Given the description of an element on the screen output the (x, y) to click on. 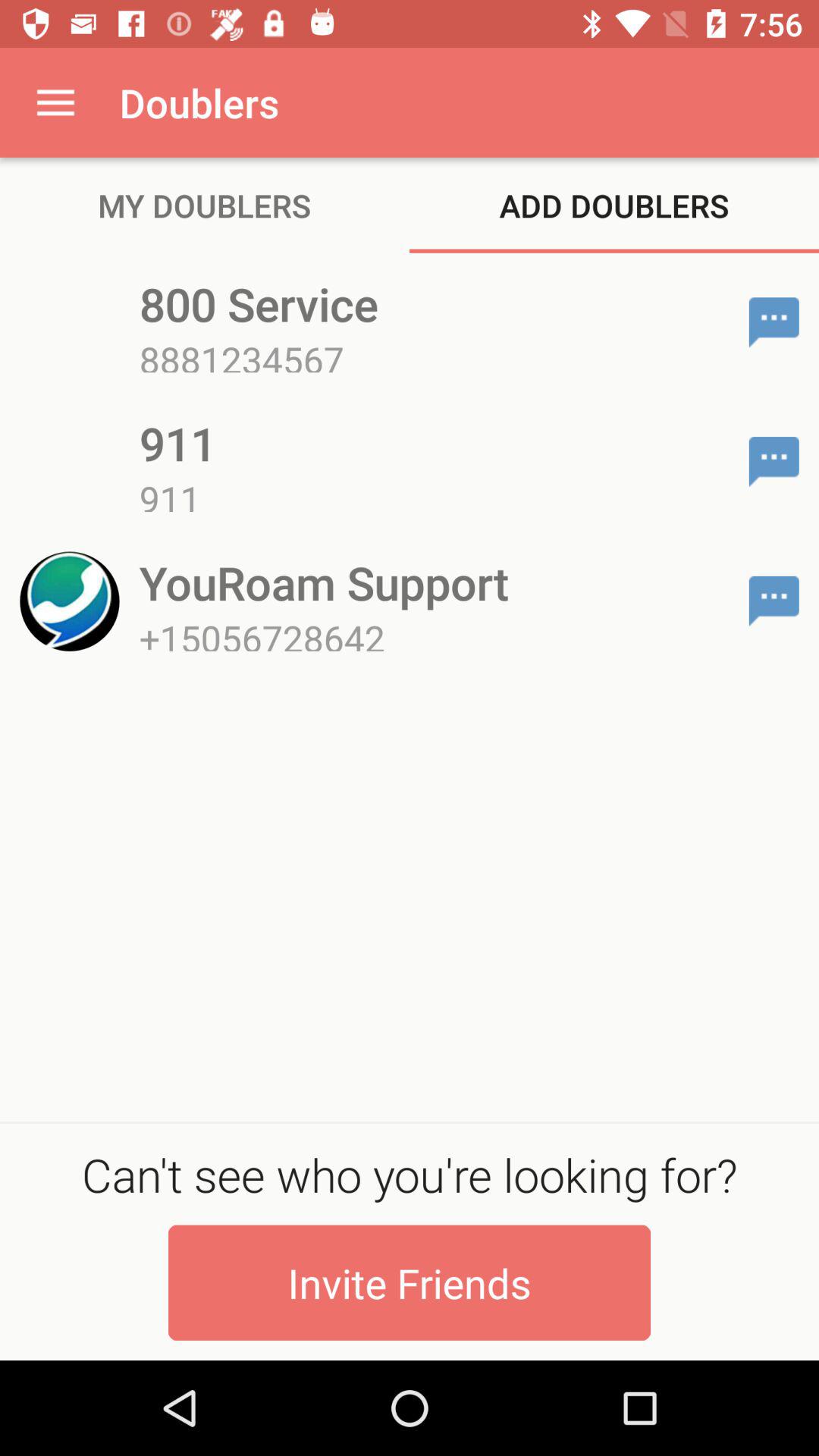
click item to the right of the 800 service icon (774, 322)
